Given the description of an element on the screen output the (x, y) to click on. 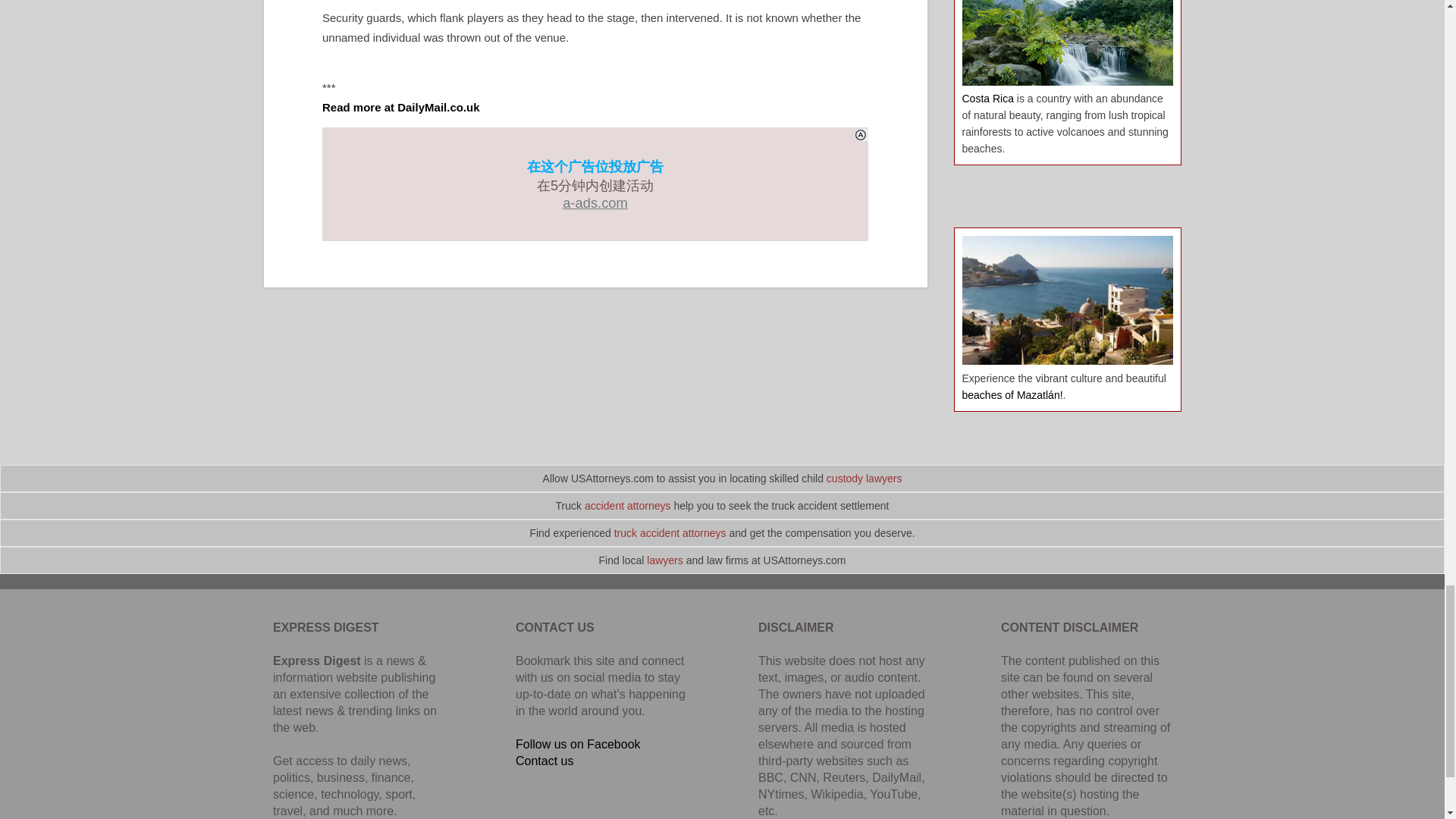
Read more at DailyMail.co.uk (400, 106)
accident attorneys (628, 505)
Costa Rica (986, 98)
lawyers (664, 560)
truck accident attorneys (670, 532)
custody lawyers (864, 478)
